Given the description of an element on the screen output the (x, y) to click on. 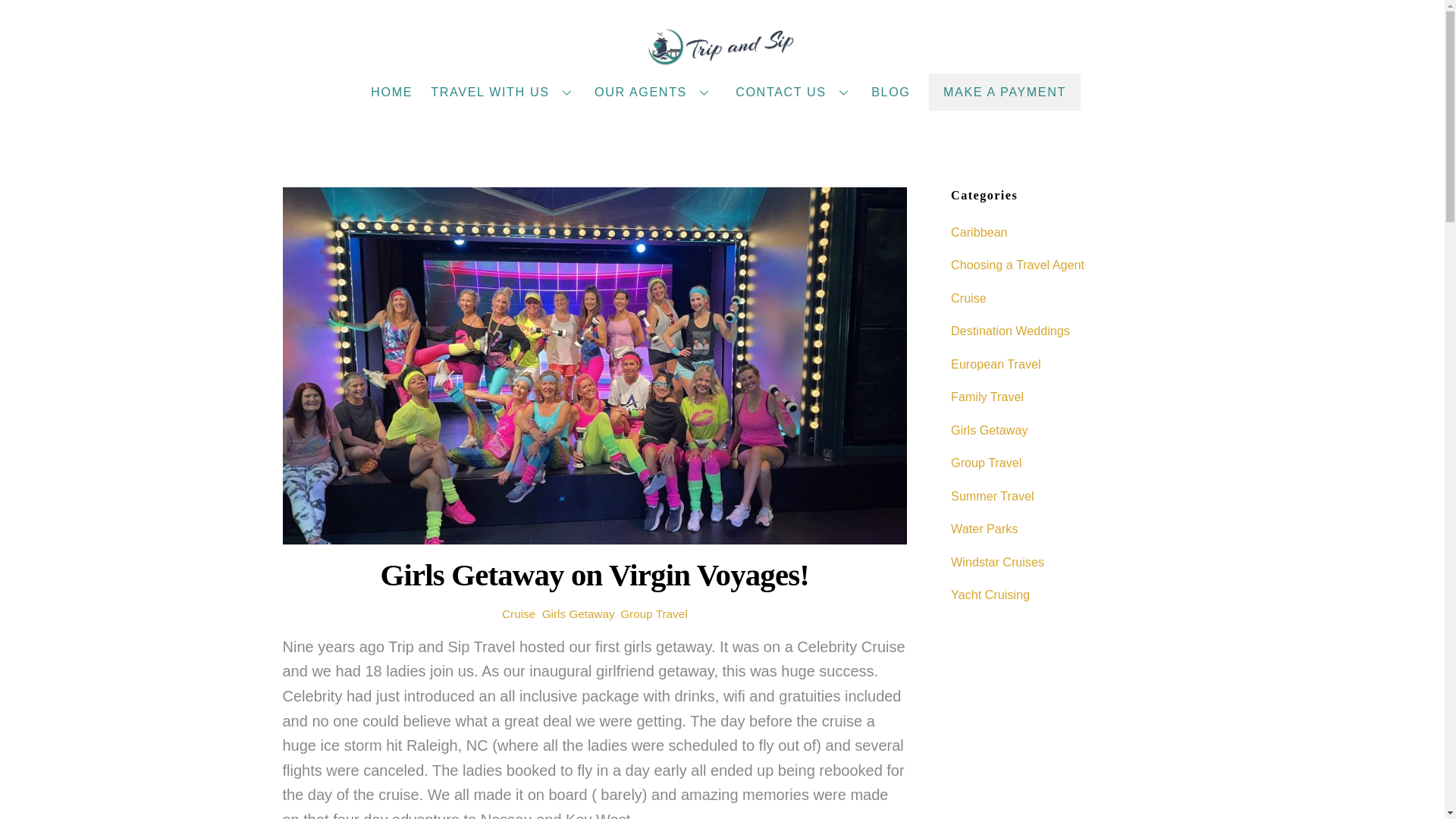
OUR AGENTS (653, 91)
Girls Getaway on Virgin Voyages! (594, 574)
Girls Getaway (577, 613)
BLOG (891, 91)
MAKE A PAYMENT (1004, 91)
HOME (392, 91)
TRAVEL WITH US (503, 91)
Trip and Sip (721, 60)
Group Travel (653, 613)
Cruise (518, 613)
CONTACT US (794, 91)
